Given the description of an element on the screen output the (x, y) to click on. 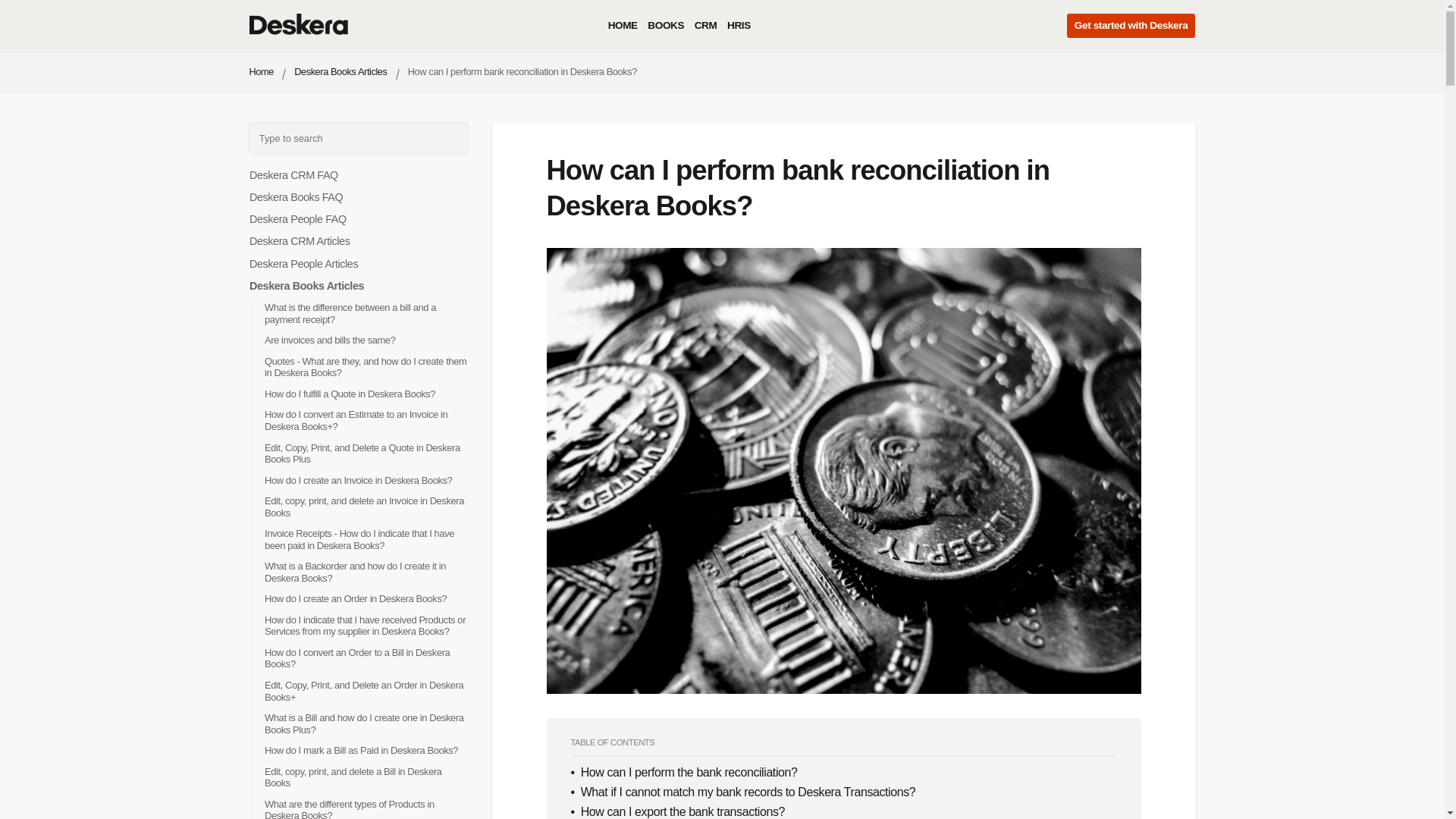
HOME (622, 25)
Home (260, 71)
Get started with Deskera (1131, 25)
CRM (705, 25)
Deskera Books Articles (340, 71)
HRIS (739, 25)
Deskera CRM FAQ (292, 174)
BOOKS (666, 25)
